Given the description of an element on the screen output the (x, y) to click on. 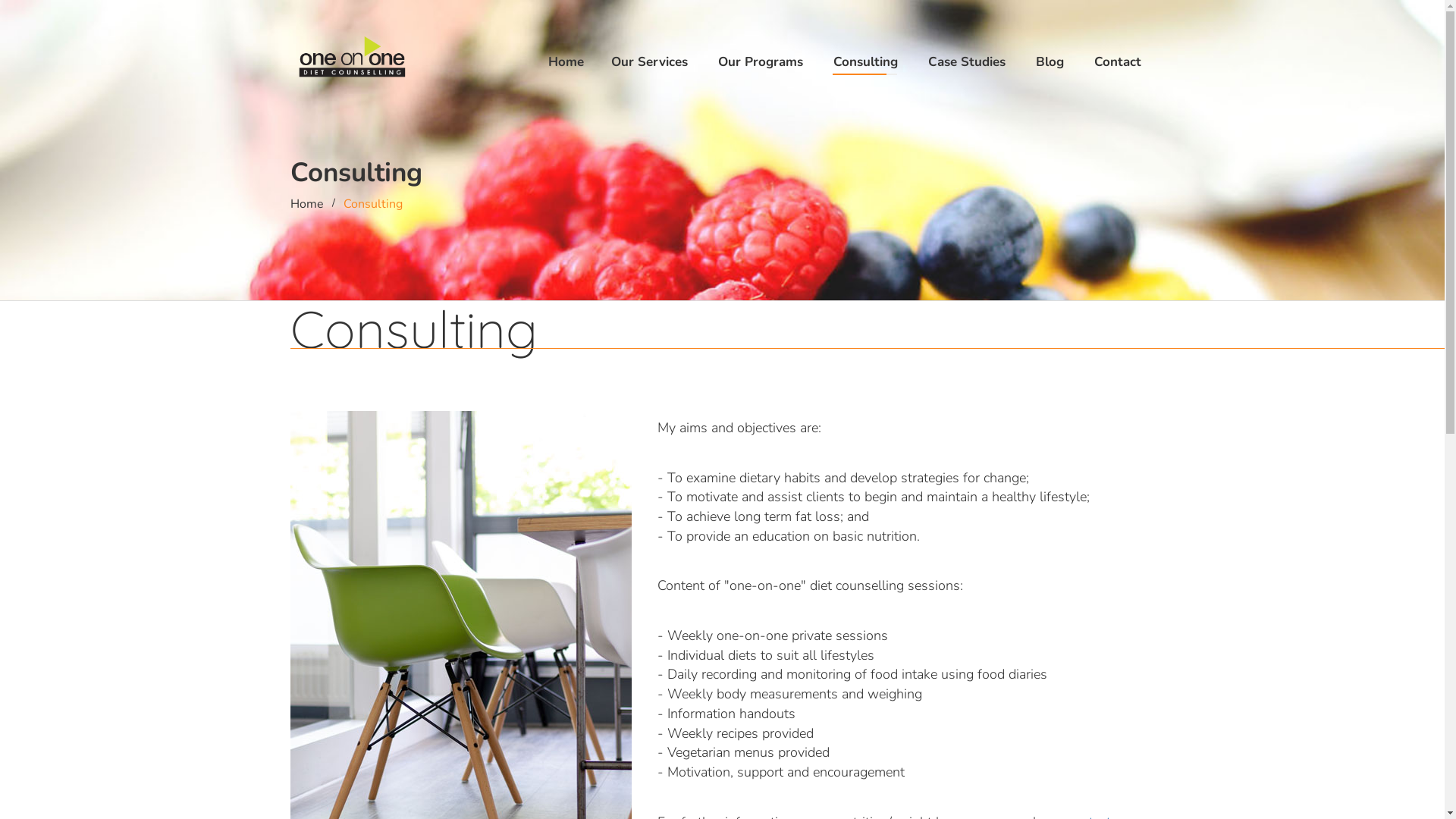
Home Element type: text (306, 203)
Case Studies Element type: text (966, 62)
Our Services Element type: text (649, 62)
Contact Element type: text (1116, 62)
Blog Element type: text (1049, 62)
Our Programs Element type: text (759, 62)
Consulting Element type: text (864, 62)
Home Element type: text (564, 62)
